Given the description of an element on the screen output the (x, y) to click on. 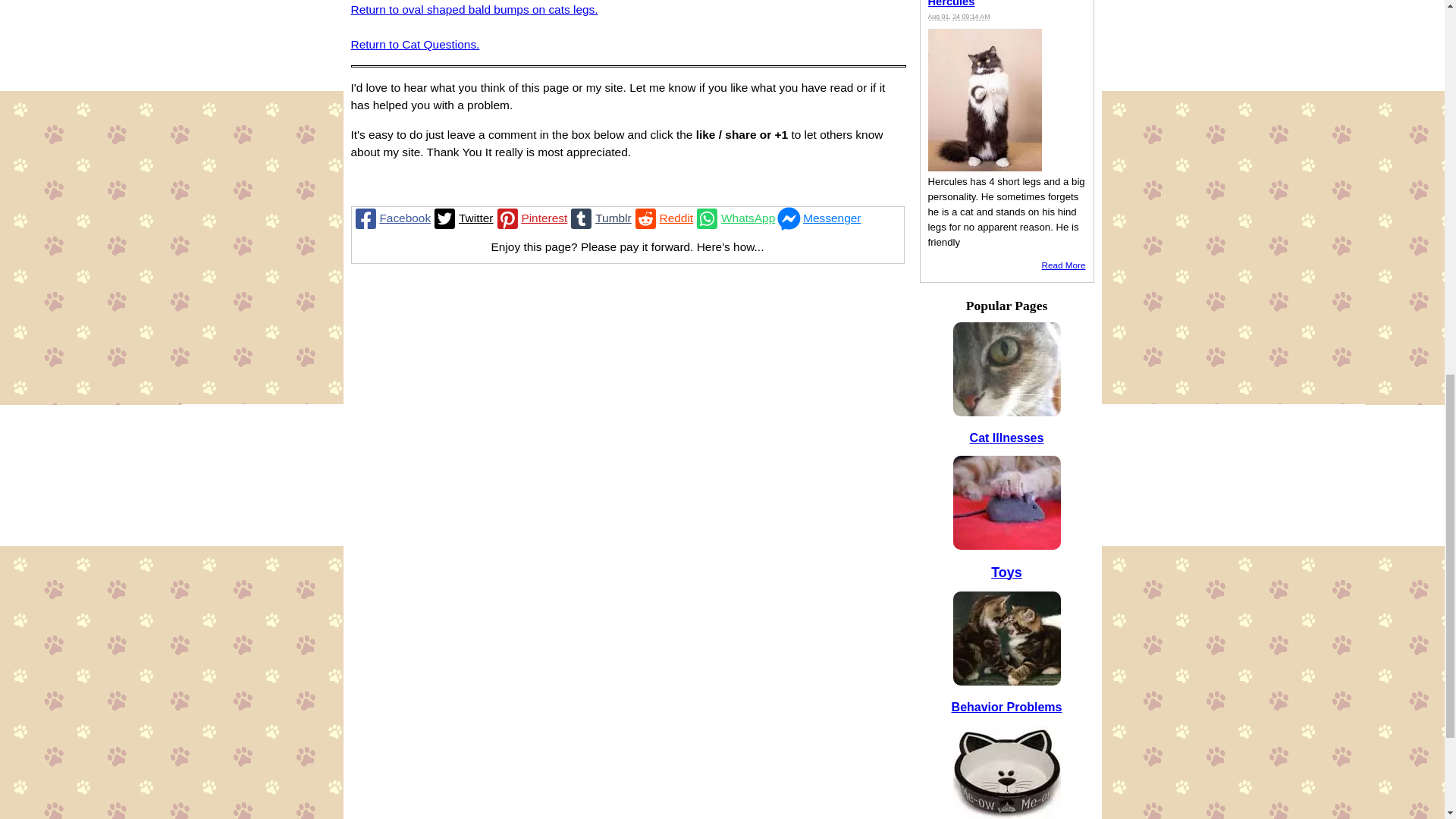
2024-08-01T09:14:15-0400 (959, 16)
